Given the description of an element on the screen output the (x, y) to click on. 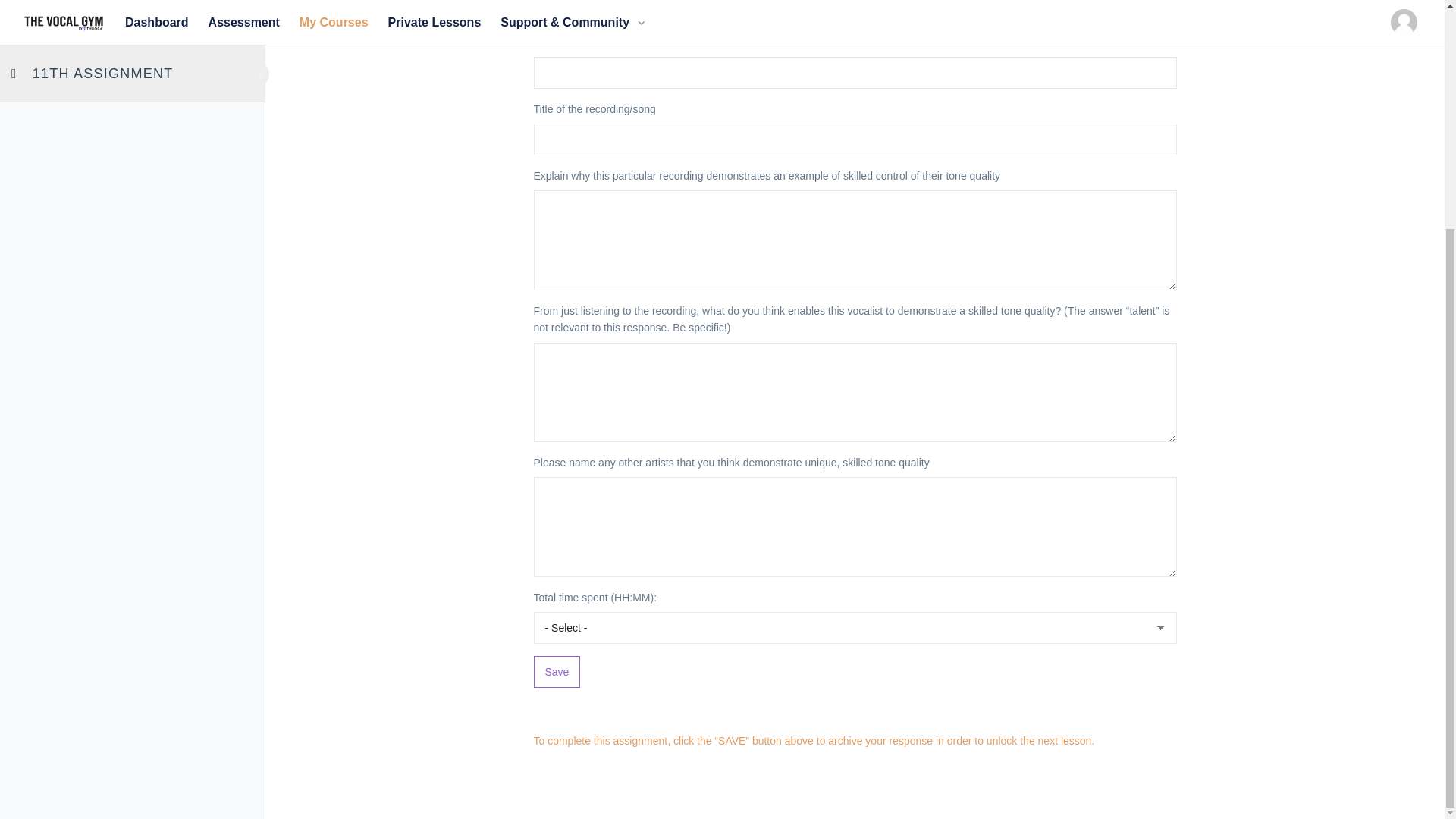
Save (557, 671)
